Given the description of an element on the screen output the (x, y) to click on. 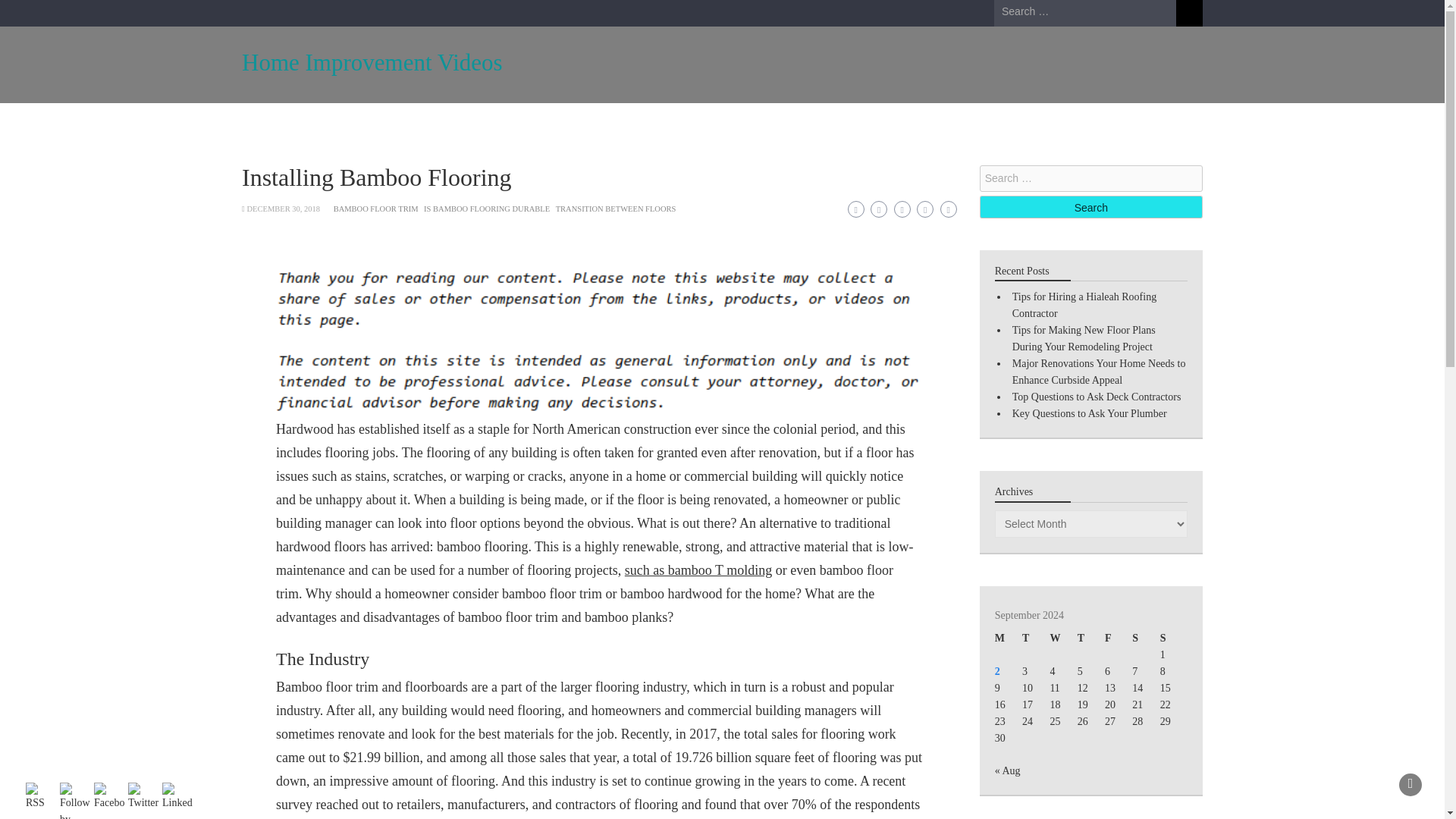
Monday (1008, 638)
Tips for Hiring a Hialeah Roofing Contractor (1083, 305)
Search for: (1090, 178)
Major Renovations Your Home Needs to Enhance Curbside Appeal (1098, 371)
Search (1090, 206)
Facebook (108, 796)
Search (1189, 13)
Home Improvement Videos (371, 62)
BAMBOO FLOOR TRIM (376, 208)
